Given the description of an element on the screen output the (x, y) to click on. 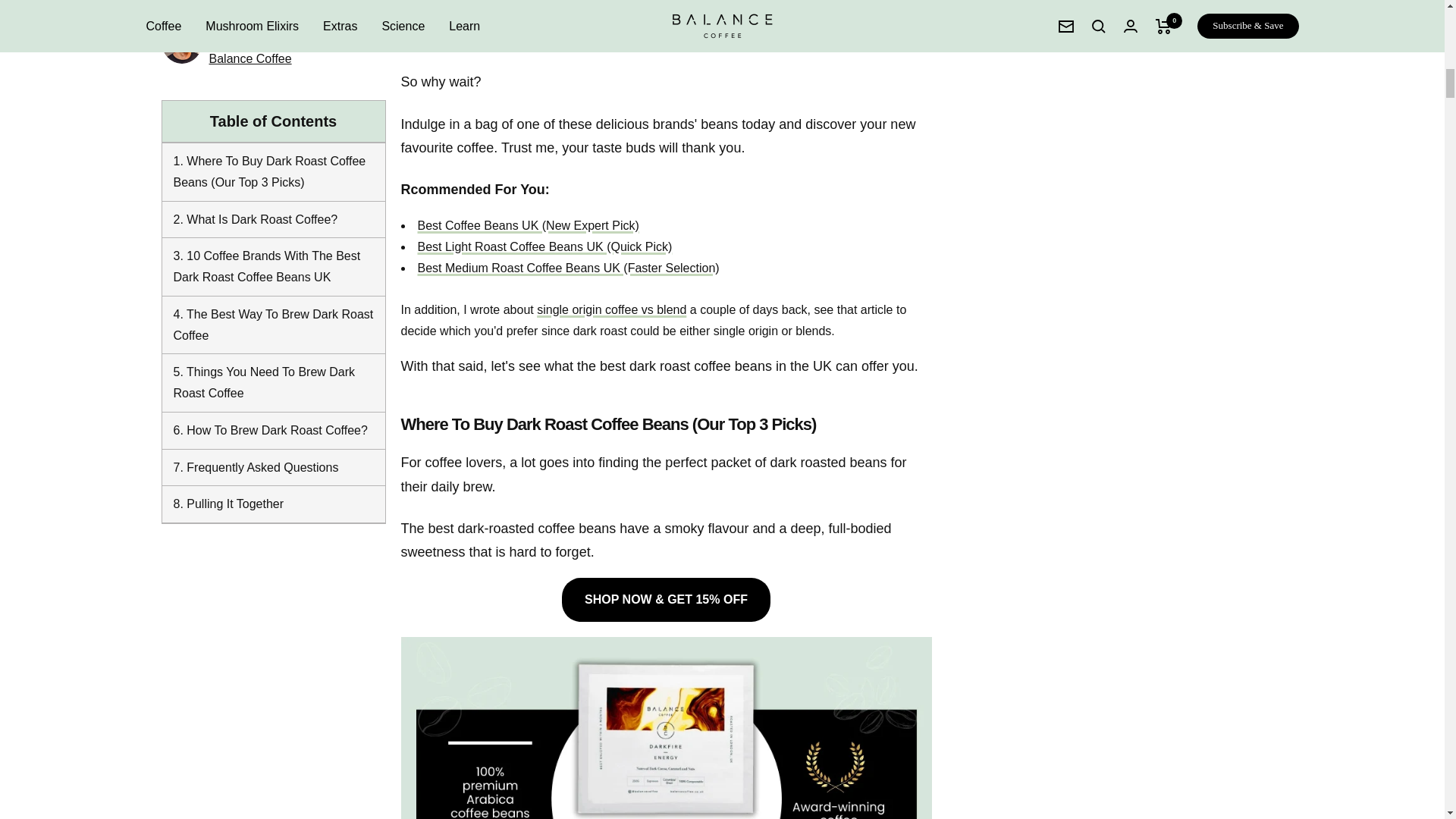
Best Light Roast Coffee Beans UK (543, 246)
Best Coffee Beans UK (527, 225)
Best Medium Roast Coffee Beans UK (567, 267)
Single Origin Coffee vs Blend (611, 309)
